Given the description of an element on the screen output the (x, y) to click on. 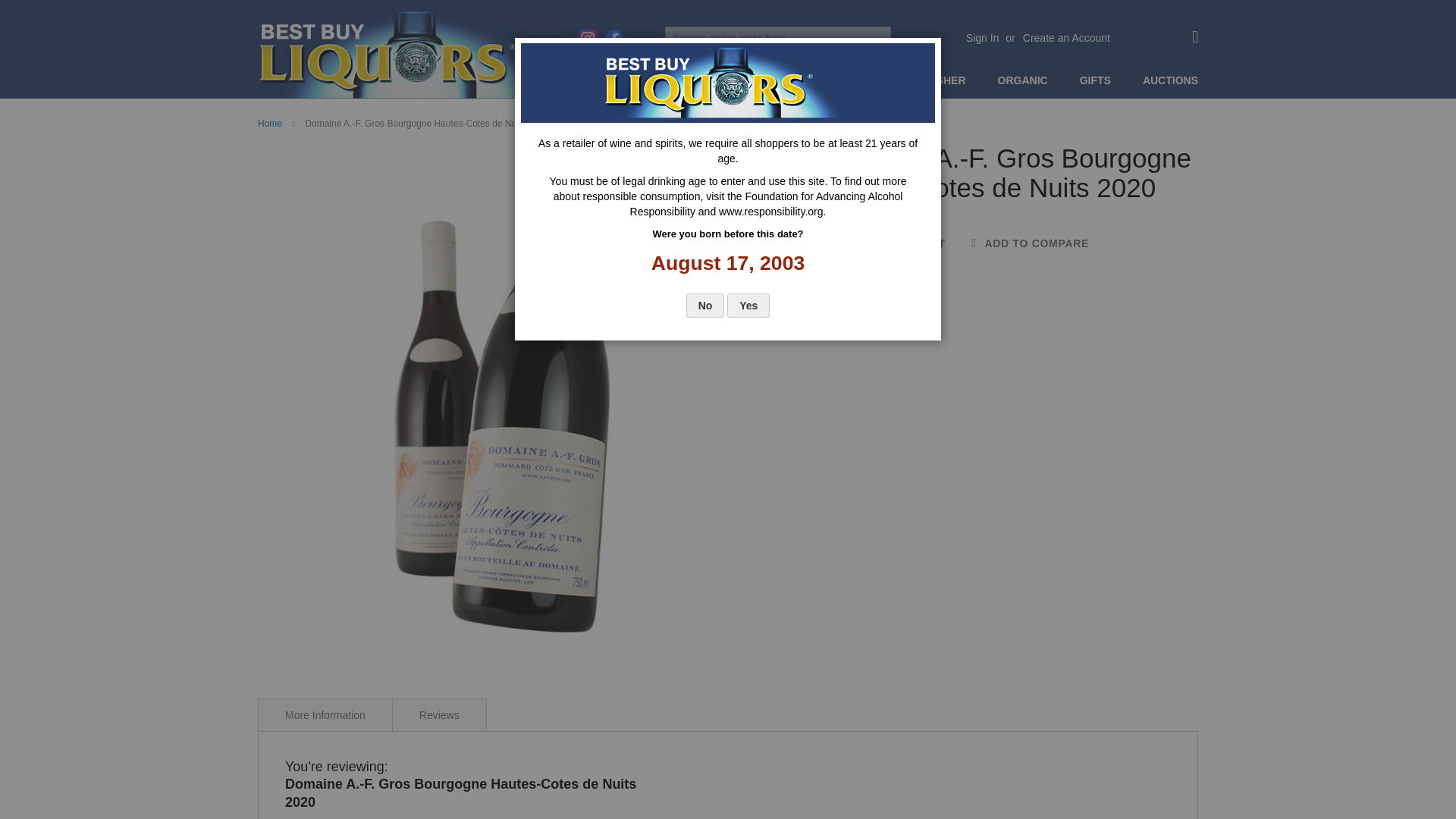
Sign In (982, 38)
Best Buy Liquors on Instagram (587, 38)
Best Buy Liquors (410, 54)
Best Buy Liquors on Facebook (614, 38)
SPIRITS (776, 80)
WINE STORE (690, 80)
Go to Home Page (269, 122)
Create an Account (1066, 38)
